Given the description of an element on the screen output the (x, y) to click on. 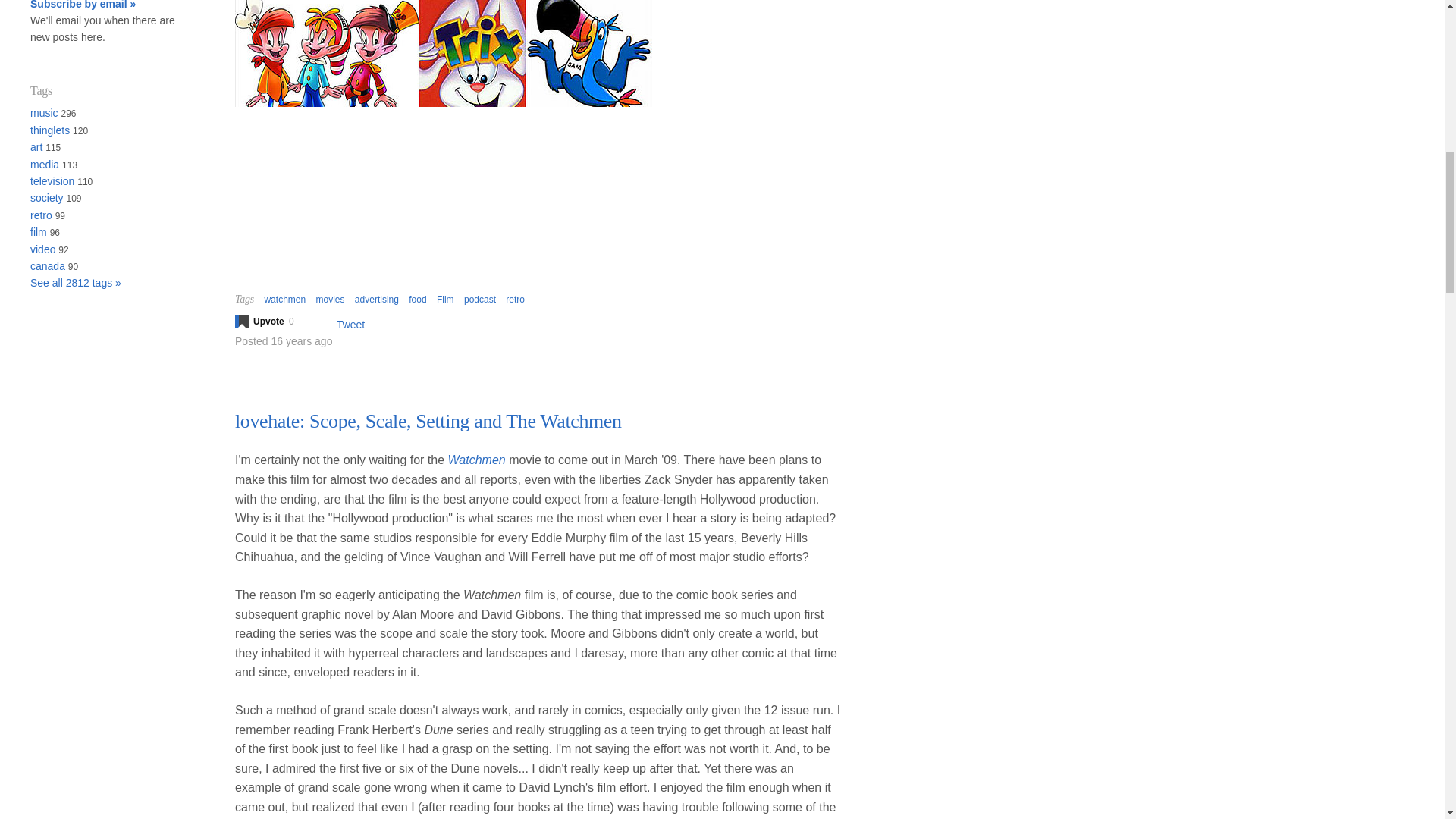
Film (445, 299)
movies (329, 299)
advertising (376, 299)
watchmen (284, 299)
lovehate: Scope, Scale, Setting and The Watchmen (427, 421)
retro (514, 299)
UpVote 0 (270, 321)
Tweet (350, 324)
podcast (480, 299)
food (417, 299)
